Given the description of an element on the screen output the (x, y) to click on. 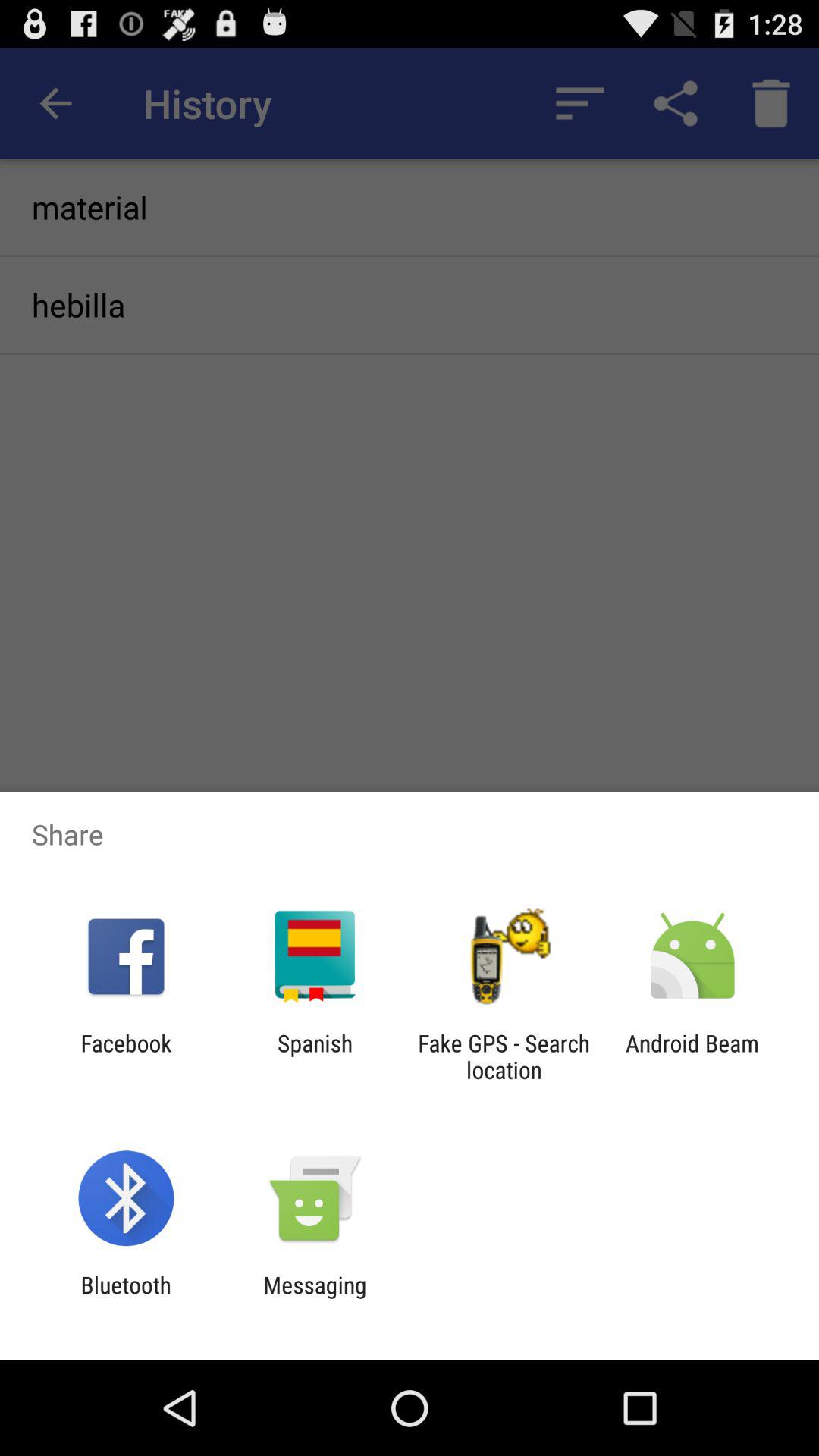
tap icon to the right of bluetooth app (314, 1298)
